Given the description of an element on the screen output the (x, y) to click on. 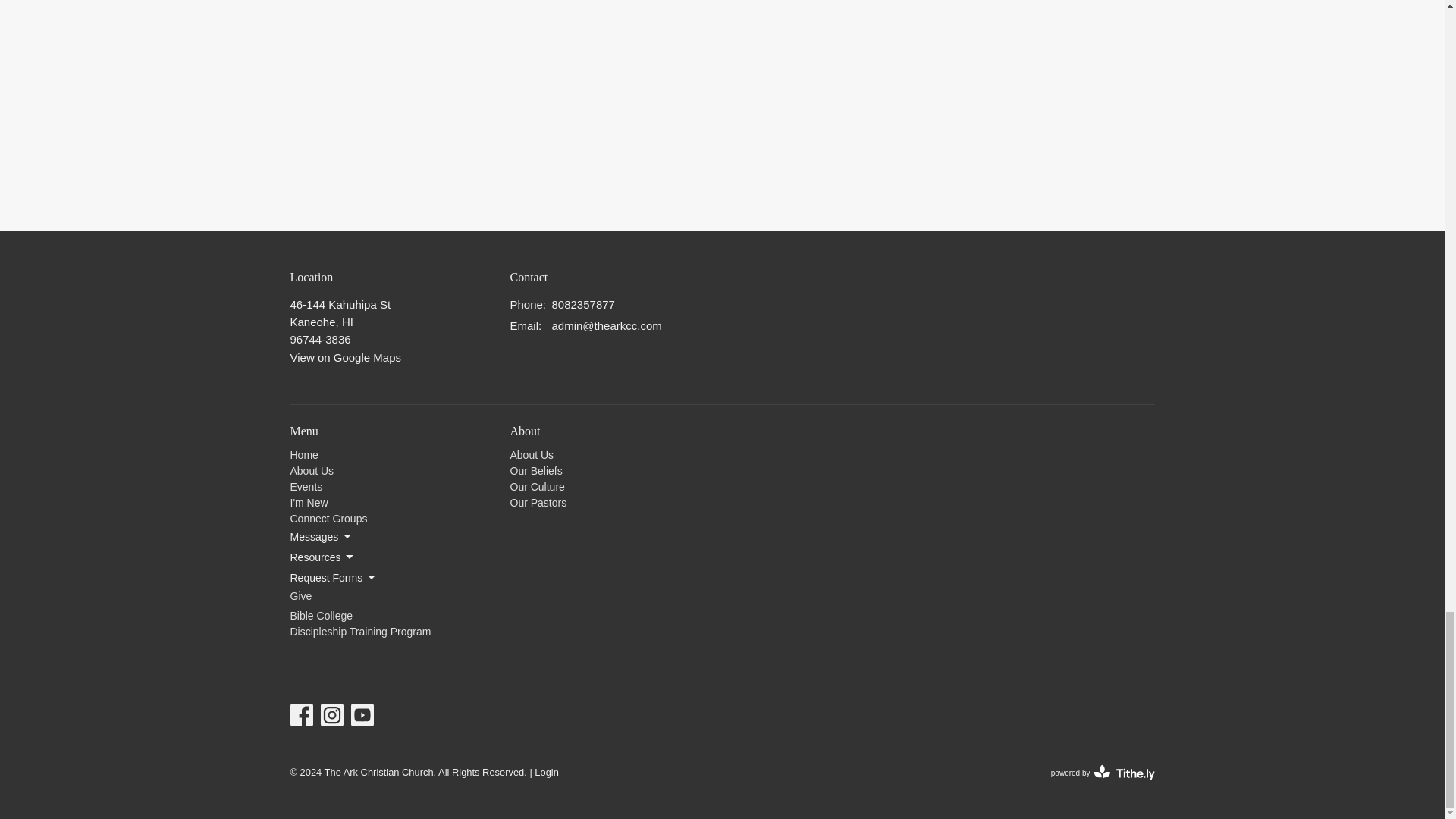
View on Google Maps (344, 357)
Messages (321, 536)
Events (305, 486)
Resources (322, 557)
Home (303, 454)
I'm New (308, 502)
Connect Groups (327, 518)
8082357877 (582, 303)
About Us (311, 470)
translation missing: en.ui.email (523, 325)
